Given the description of an element on the screen output the (x, y) to click on. 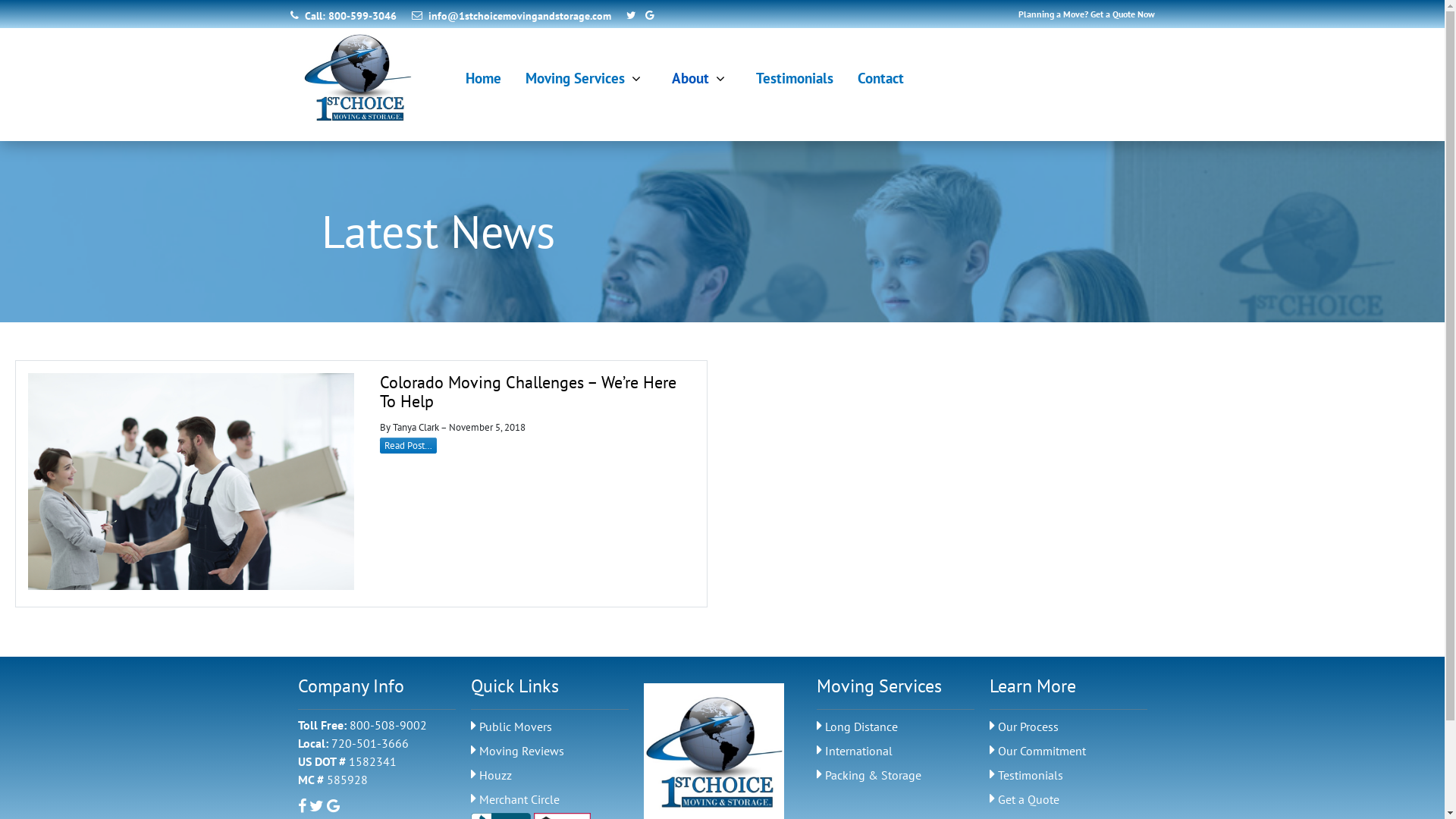
Merchant Circle Element type: text (548, 800)
Testimonials Element type: text (794, 77)
Home Element type: text (483, 77)
Our Process Element type: text (1067, 727)
Our Commitment Element type: text (1067, 752)
Moving Reviews Element type: text (548, 752)
International Element type: text (894, 752)
Planning a Move? Get a Quote Now Element type: text (1085, 14)
About Element type: text (701, 77)
Public Movers Element type: text (548, 727)
Long Distance Element type: text (894, 727)
Houzz Element type: text (548, 776)
800-508-9002 Element type: text (387, 724)
  Call: 800-599-3046 Element type: text (342, 15)
Get a Quote Element type: text (1067, 800)
  info@1stchoicemovingandstorage.com Element type: text (512, 15)
Testimonials Element type: text (1067, 776)
720-501-3666 Element type: text (368, 742)
Moving Services Element type: text (586, 77)
Contact Element type: text (880, 77)
Packing & Storage Element type: text (894, 776)
